Given the description of an element on the screen output the (x, y) to click on. 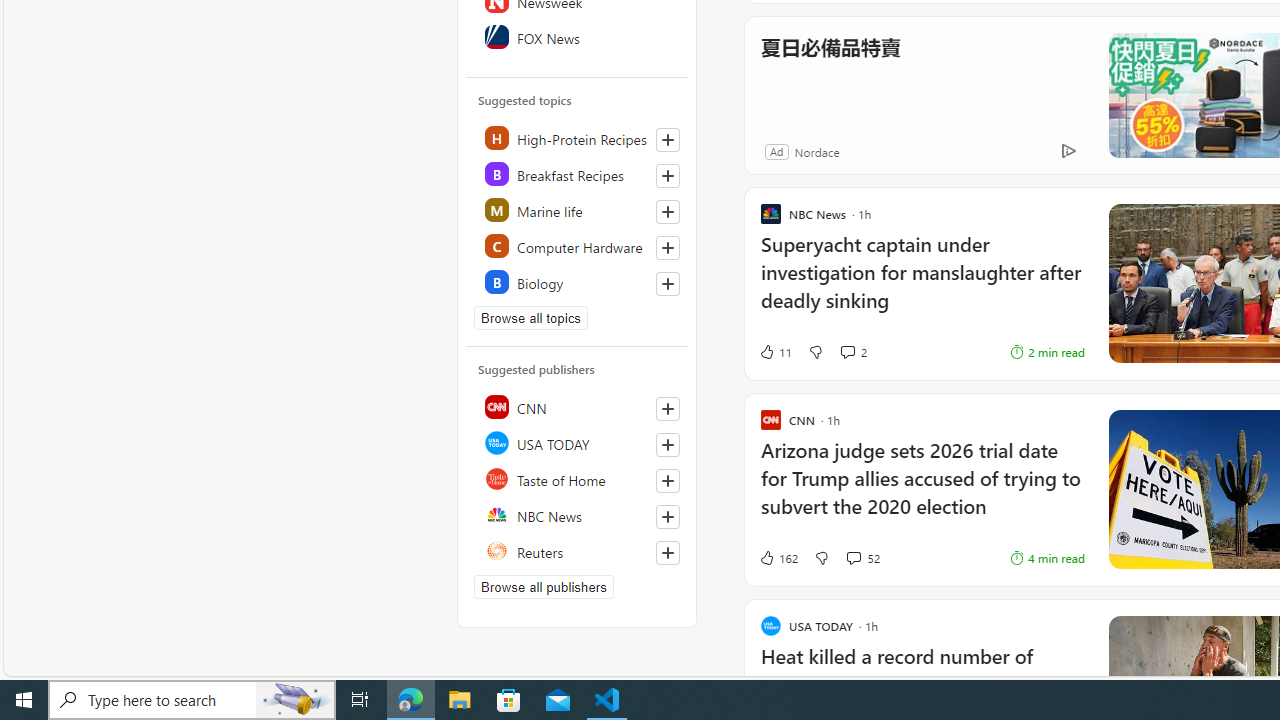
View comments 2 Comment (847, 352)
Heat killed a record number of Americans last year (922, 681)
View comments 2 Comment (852, 351)
USA TODAY (578, 442)
Follow this source (667, 552)
CNN (578, 406)
Follow this topic (667, 283)
Browse all publishers (543, 587)
Follow this source (667, 552)
Browse all topics (530, 317)
NBC News (578, 514)
